Given the description of an element on the screen output the (x, y) to click on. 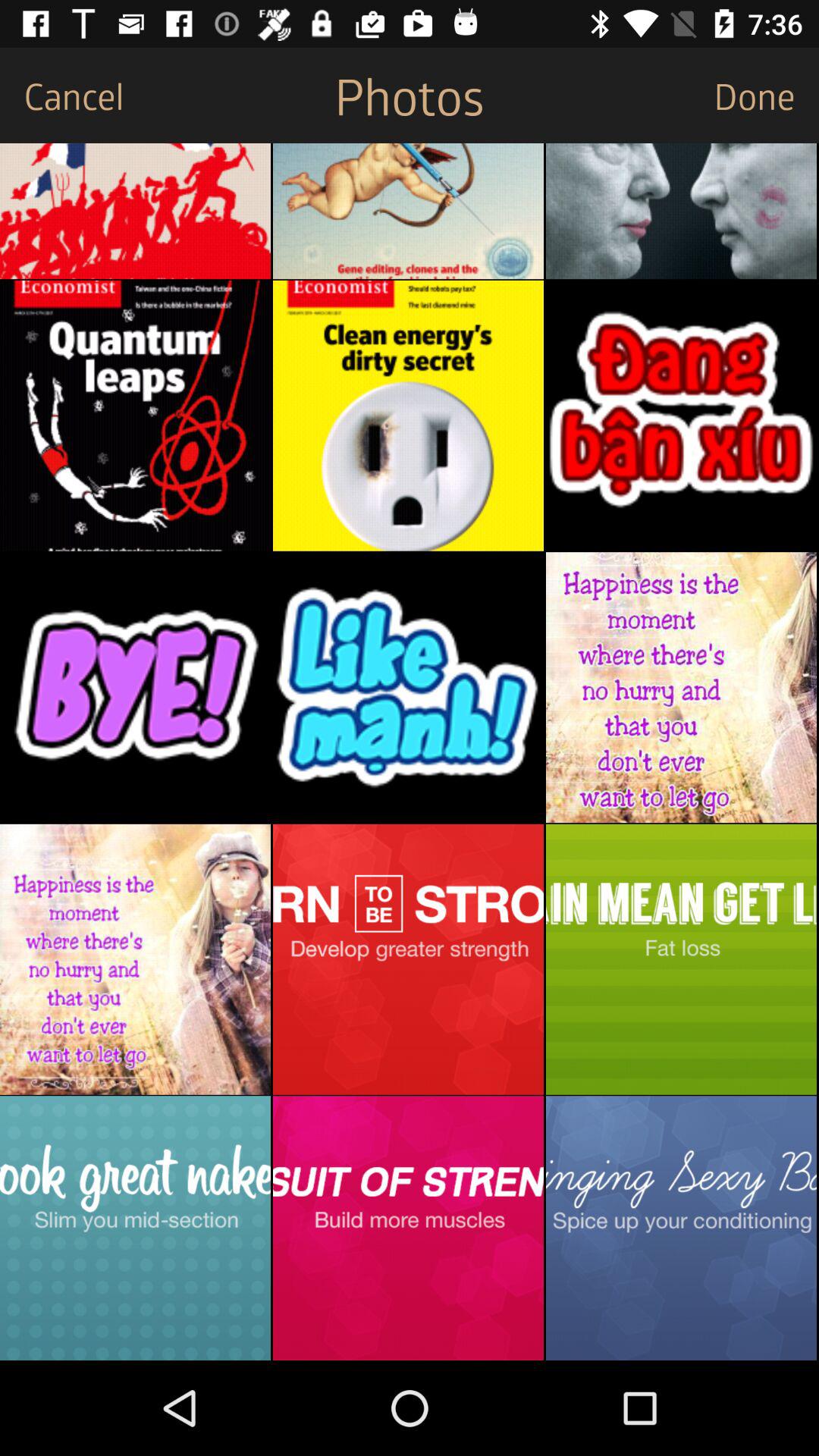
flip until the photos (409, 95)
